Given the description of an element on the screen output the (x, y) to click on. 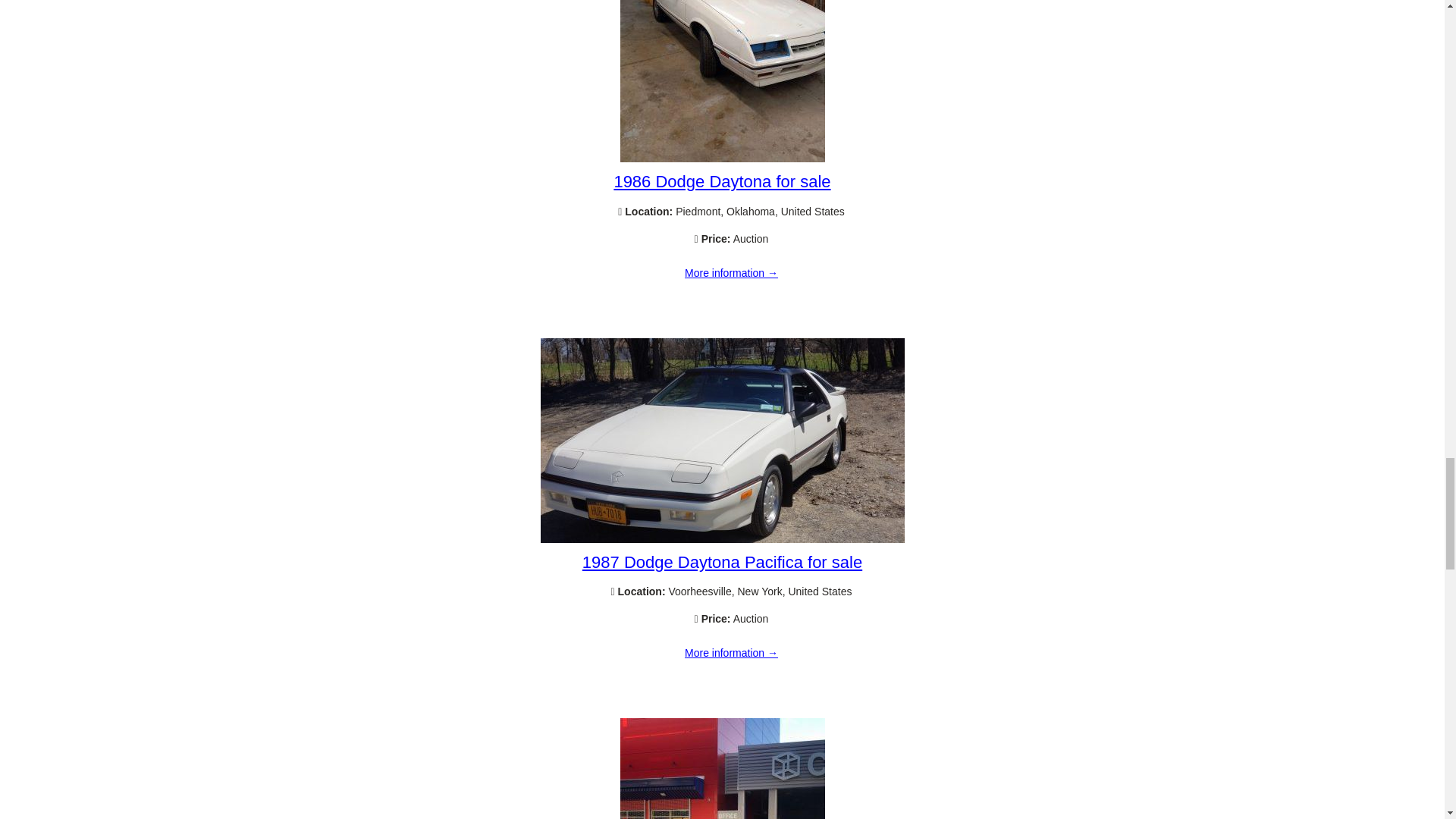
1986 Dodge Daytona for sale (722, 158)
1986 Dodge Daytona for sale (720, 180)
1986 Dodge Daytona for sale (731, 273)
1987 Dodge Daytona Pacifica for sale (731, 653)
1987 Dodge Daytona Pacifica for sale (721, 561)
1987 Dodge Daytona Pacifica for sale (722, 539)
